Given the description of an element on the screen output the (x, y) to click on. 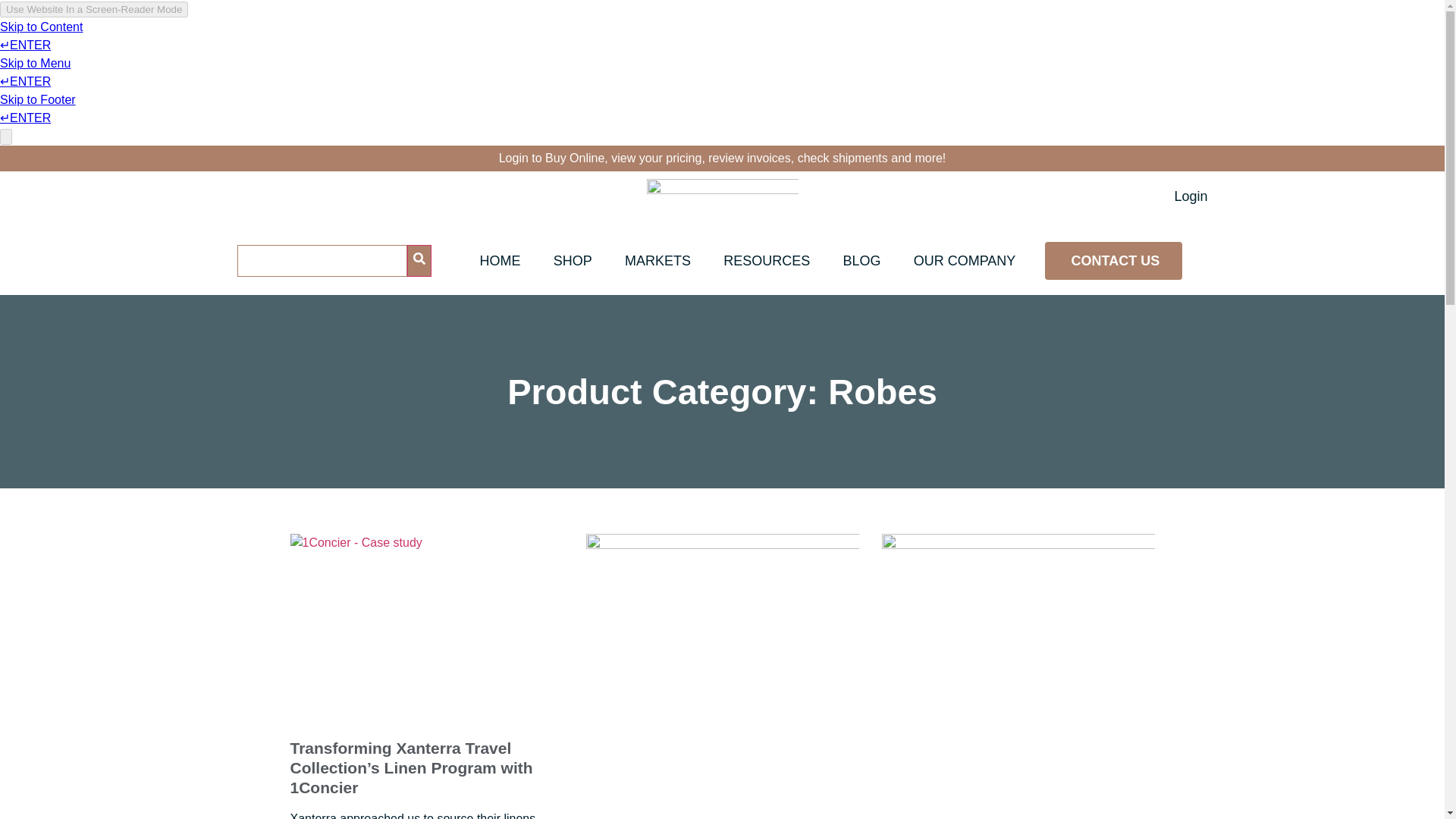
RESOURCES (766, 260)
BLOG (861, 260)
HOME (499, 260)
SHOP (572, 260)
CONTACT US (1115, 260)
OUR COMPANY (965, 260)
MARKETS (657, 260)
